Given the description of an element on the screen output the (x, y) to click on. 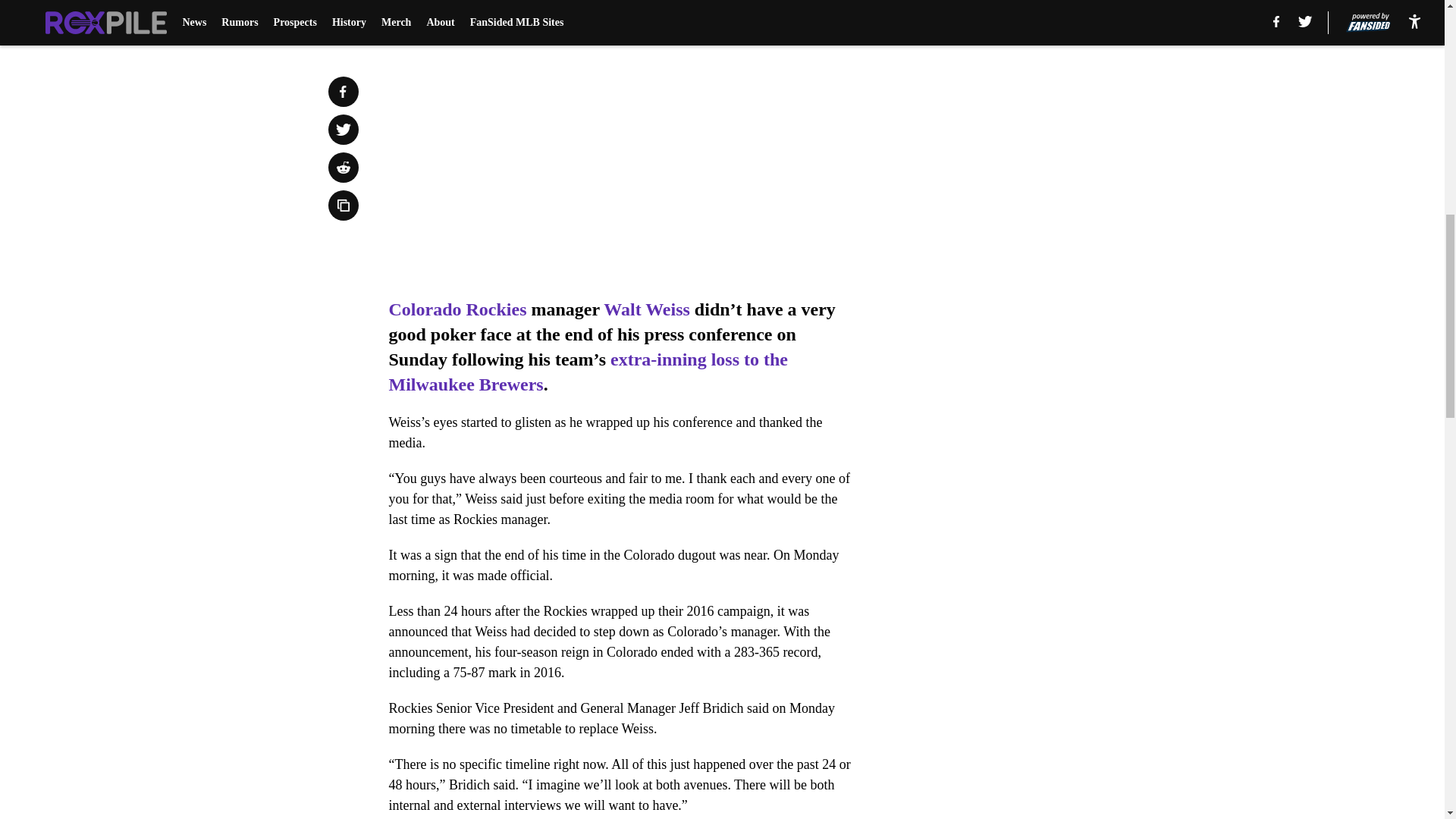
extra-inning loss to the Milwaukee Brewers (587, 371)
Walt Weiss (647, 309)
Colorado Rockies (456, 309)
